Given the description of an element on the screen output the (x, y) to click on. 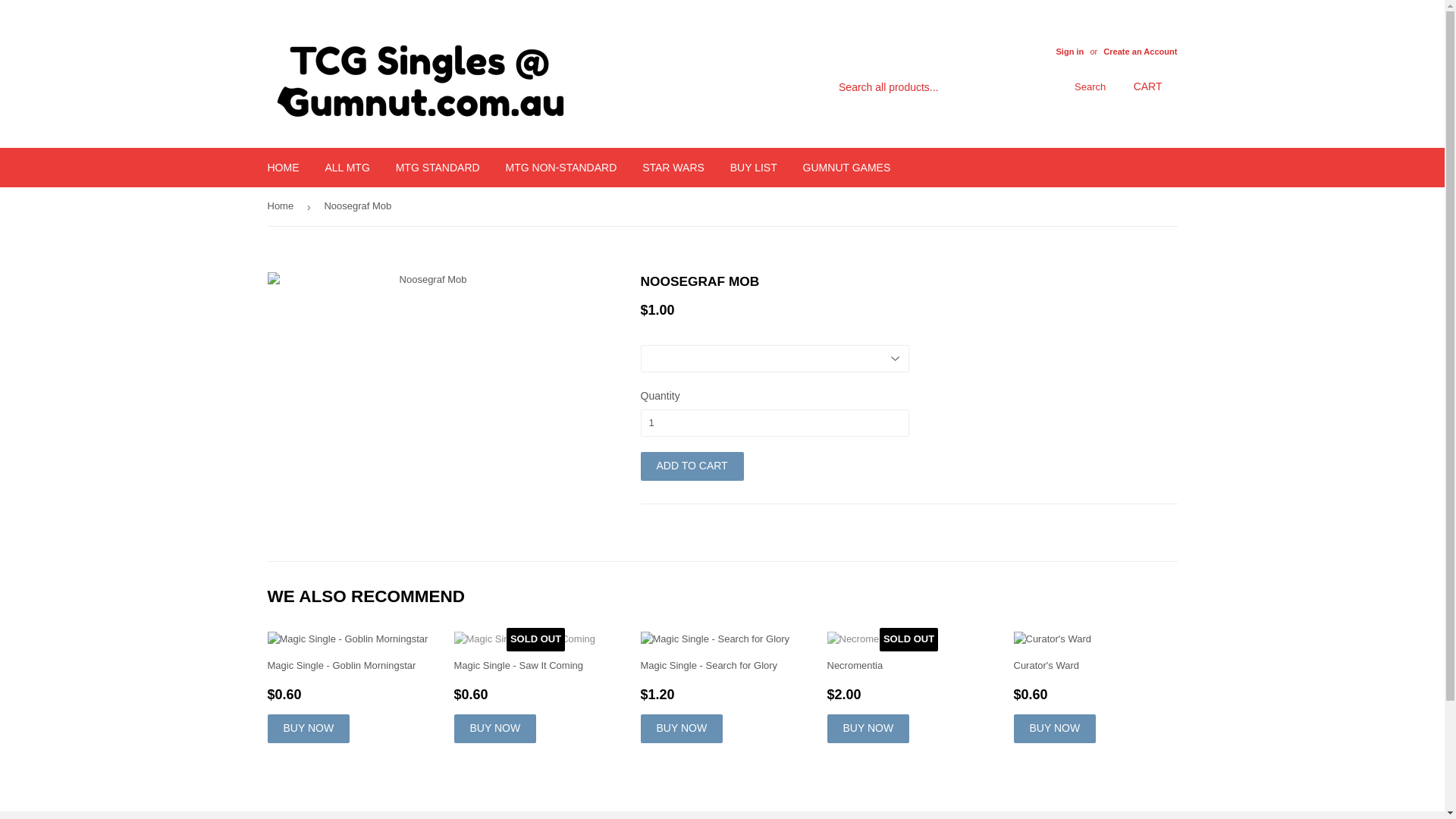
Home Element type: text (282, 206)
MTG STANDARD Element type: text (437, 167)
Sign in Element type: text (1069, 51)
ADD TO CART Element type: text (691, 465)
ALL MTG Element type: text (346, 167)
Magic Single - Search for Glory
REGULAR PRICE
$1.20
$1.20 Element type: text (721, 687)
CART Element type: text (1147, 86)
STAR WARS Element type: text (672, 167)
Buy now Element type: text (1054, 728)
Buy now Element type: text (494, 728)
Curator's Ward
REGULAR PRICE
$0.60
$0.60 Element type: text (1094, 687)
Create an Account Element type: text (1139, 51)
Search Element type: text (1087, 87)
Magic Single - Goblin Morningstar
REGULAR PRICE
$0.60
$0.60 Element type: text (348, 687)
SOLD OUT
Necromentia
REGULAR PRICE
$2.00
$2.00 Element type: text (908, 687)
MTG NON-STANDARD Element type: text (561, 167)
Buy now Element type: text (307, 728)
GUMNUT GAMES Element type: text (846, 167)
Buy now Element type: text (681, 728)
HOME Element type: text (283, 167)
Buy now Element type: text (867, 728)
BUY LIST Element type: text (753, 167)
